Given the description of an element on the screen output the (x, y) to click on. 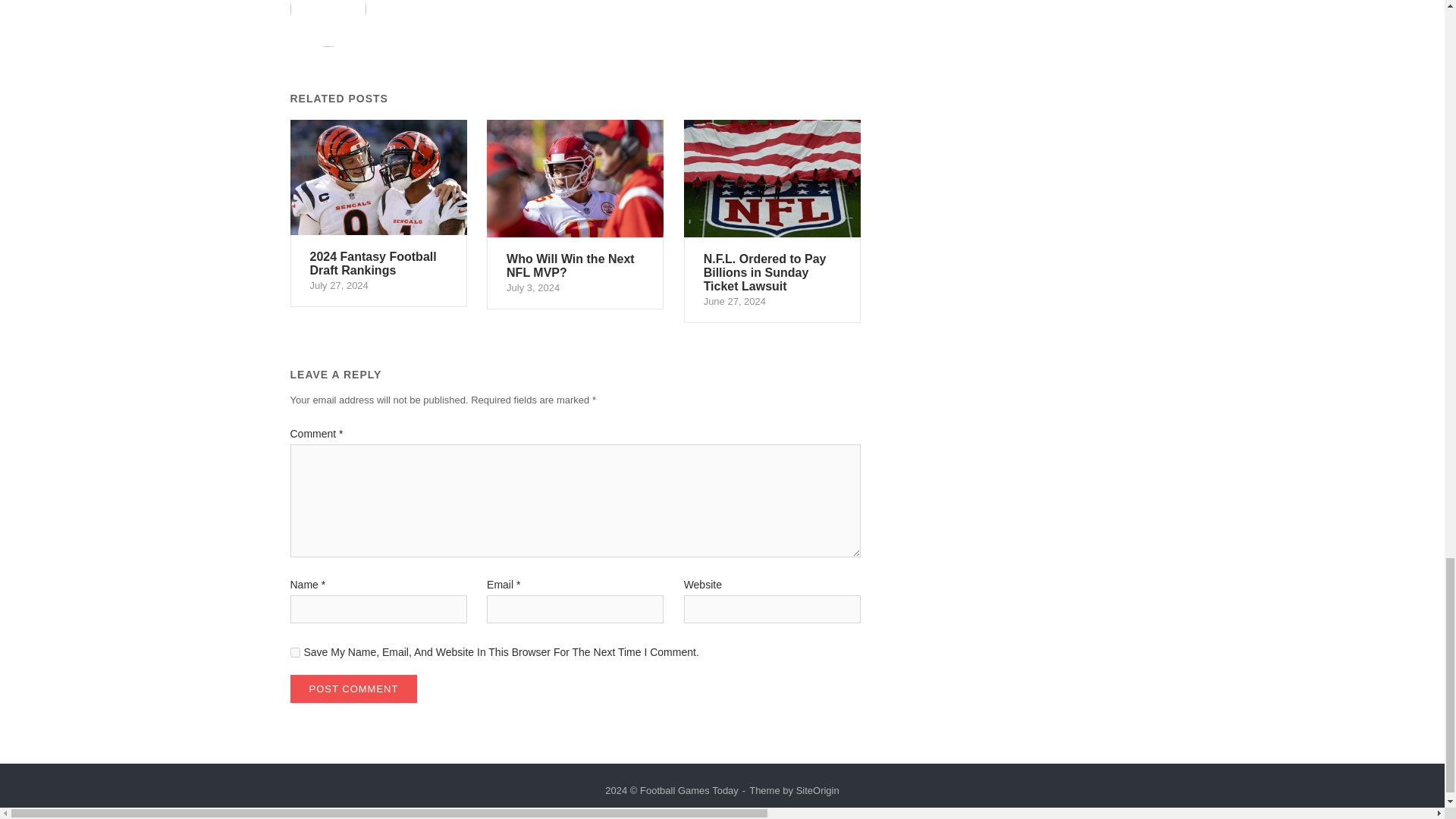
2024 Fantasy Football Draft Rankings (377, 213)
Post Comment (377, 213)
SiteOrigin (352, 688)
yes (818, 790)
Who Will Win the Next NFL MVP? (574, 214)
Post Comment (294, 652)
